Given the description of an element on the screen output the (x, y) to click on. 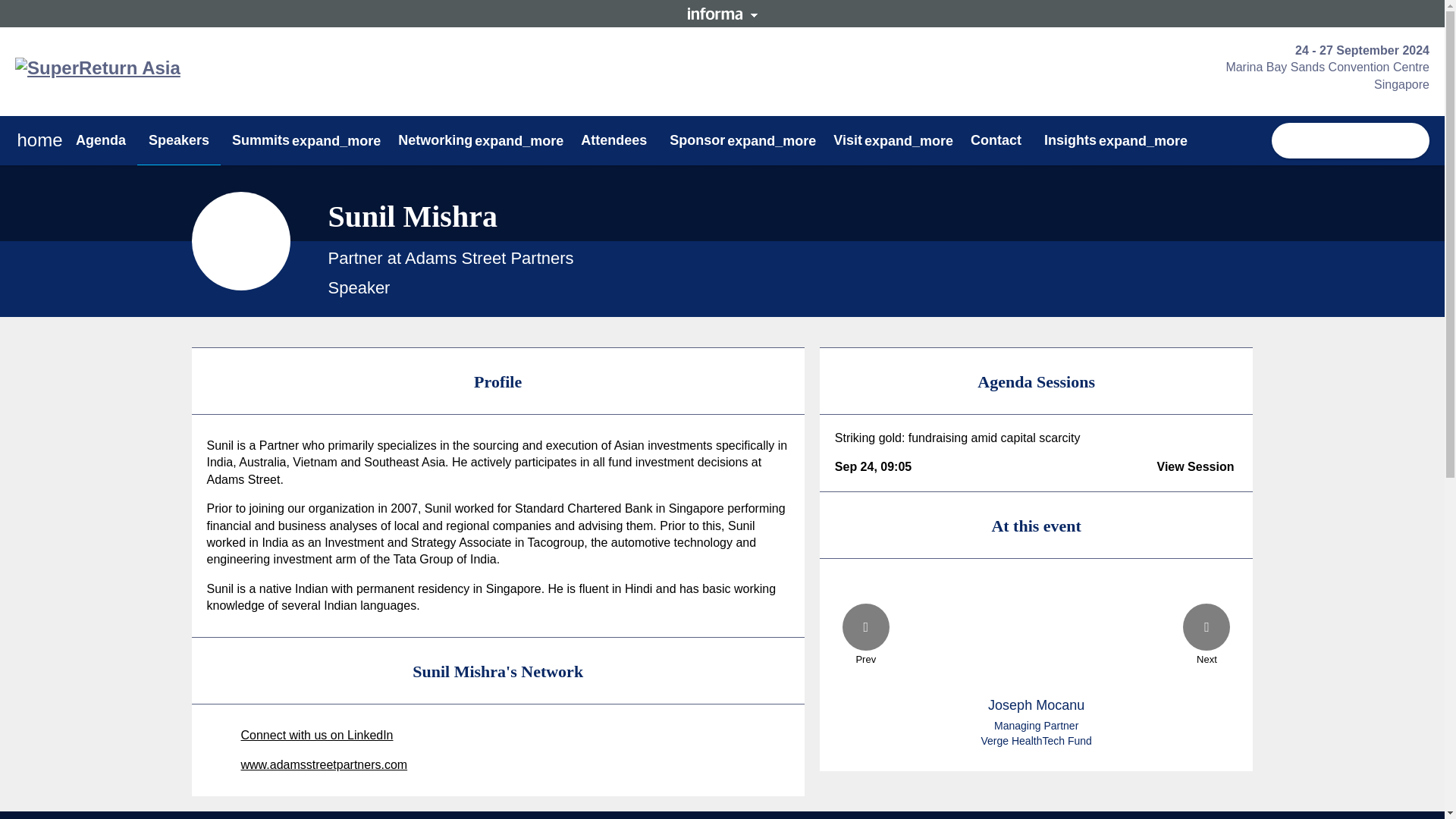
Agenda (100, 140)
Contact (995, 140)
Connect with us on LinkedIn (299, 735)
www.adamsstreetpartners.com (310, 764)
Book Now (1350, 140)
Attendees (613, 140)
Speakers (178, 140)
home (39, 140)
